Given the description of an element on the screen output the (x, y) to click on. 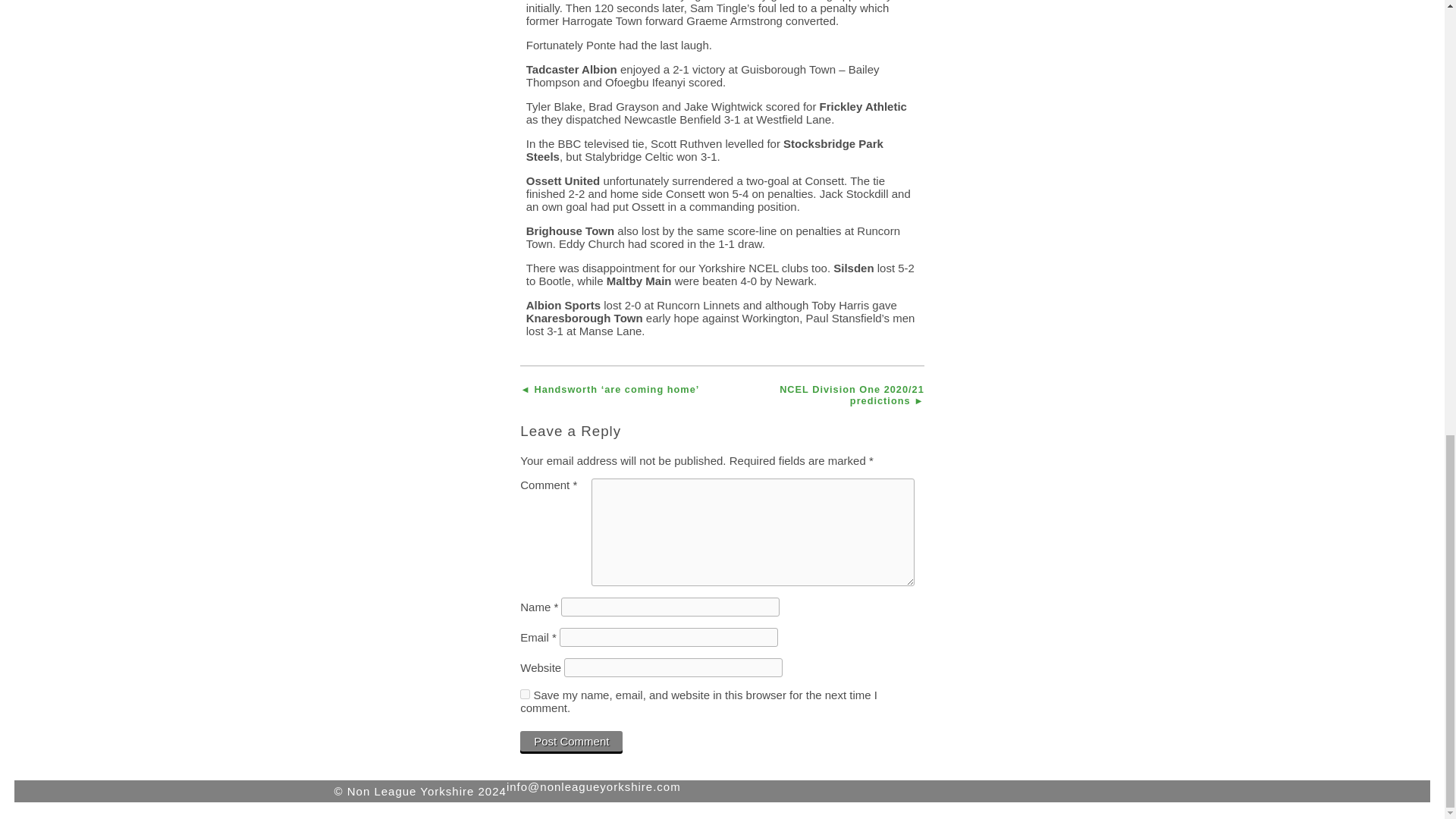
yes (524, 694)
Post Comment (571, 741)
Post Comment (571, 741)
